Given the description of an element on the screen output the (x, y) to click on. 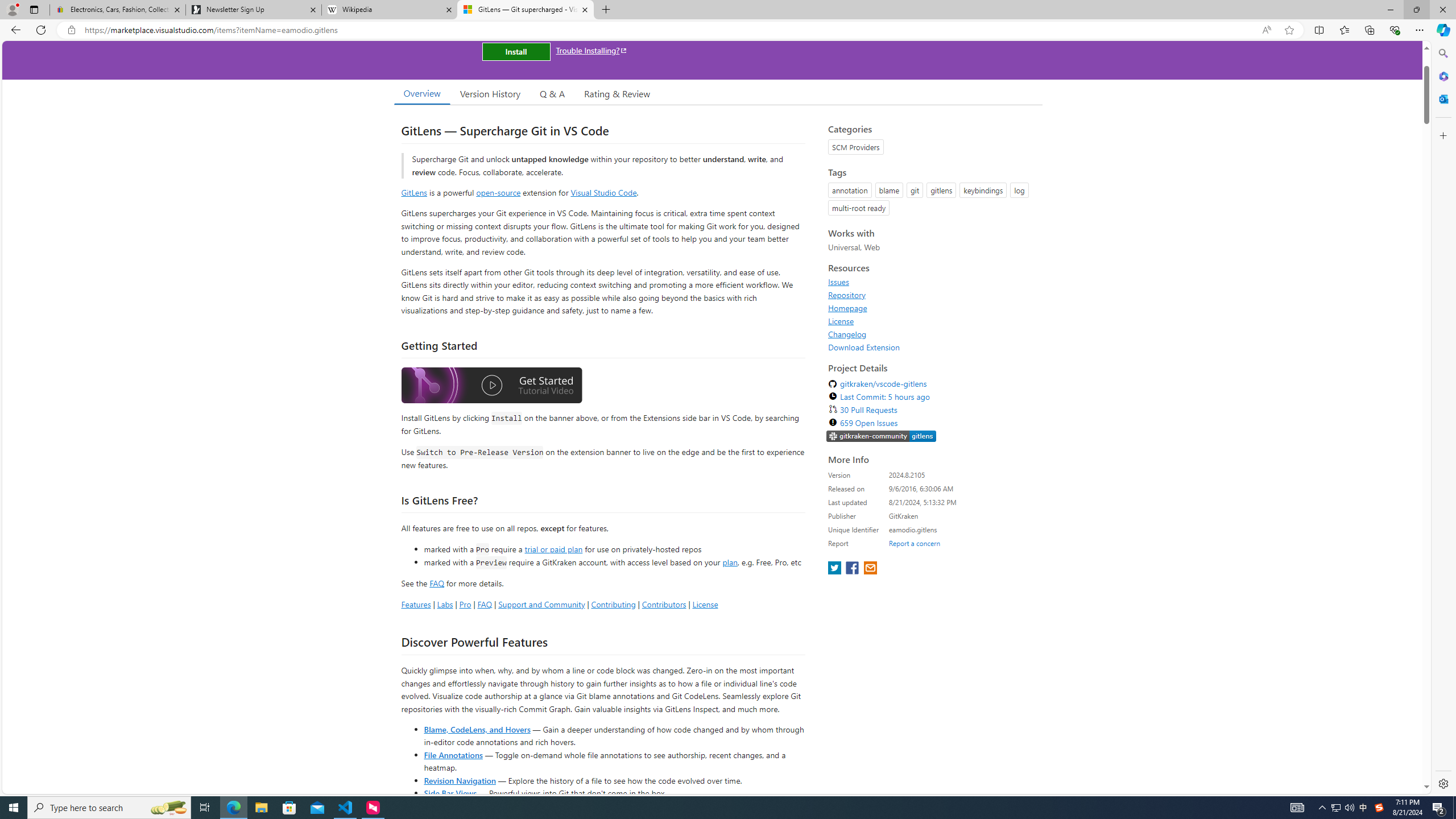
Rating & Review (618, 92)
Q & A (552, 92)
Newsletter Sign Up (253, 9)
plan (730, 562)
Contributors (663, 603)
File Annotations (453, 754)
